Given the description of an element on the screen output the (x, y) to click on. 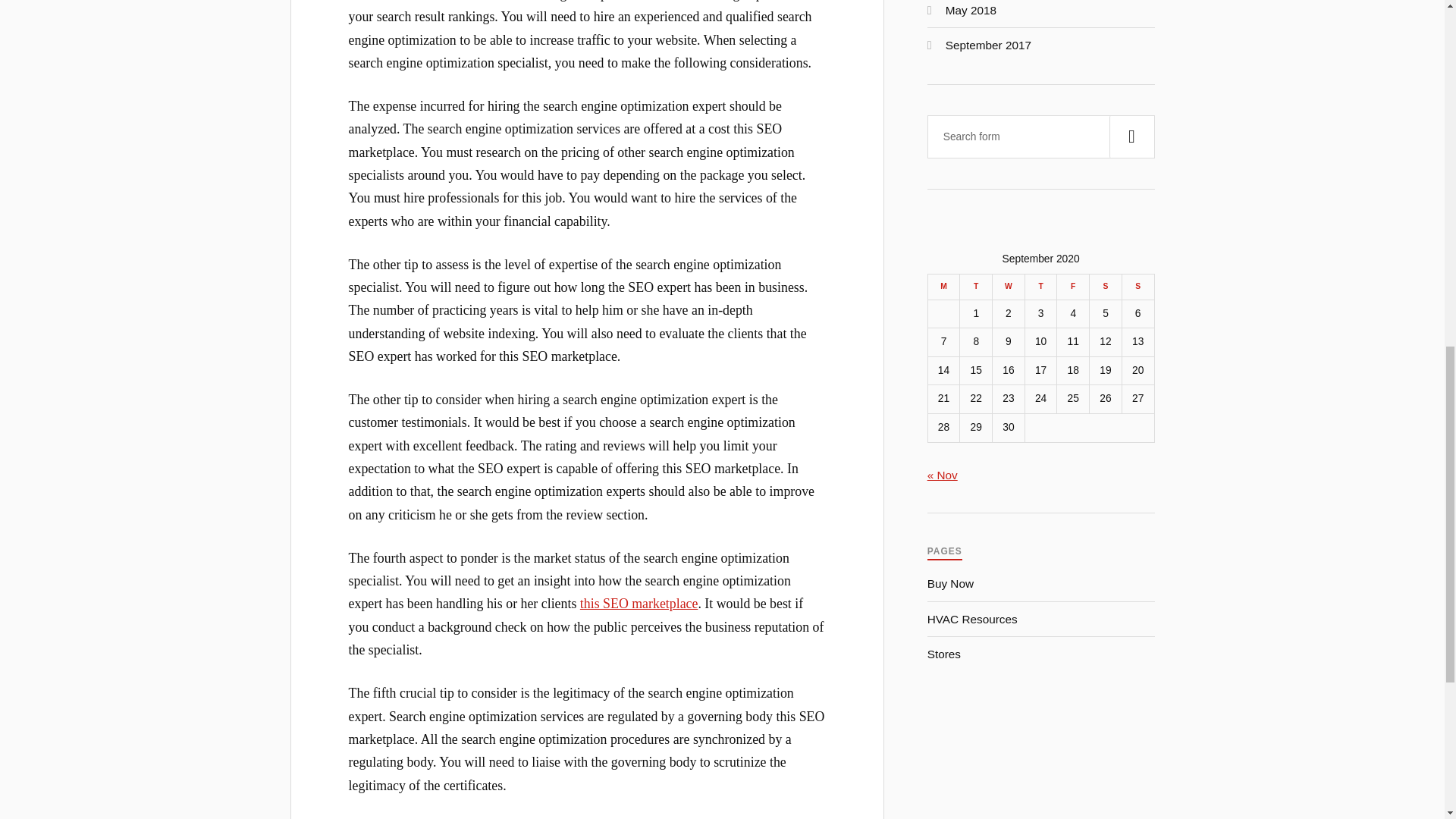
this SEO marketplace (638, 603)
Stores (943, 653)
Tuesday (975, 286)
Monday (943, 286)
Friday (1073, 286)
Buy Now (950, 583)
September 2017 (987, 44)
Saturday (1105, 286)
May 2018 (969, 10)
Wednesday (1008, 286)
